Given the description of an element on the screen output the (x, y) to click on. 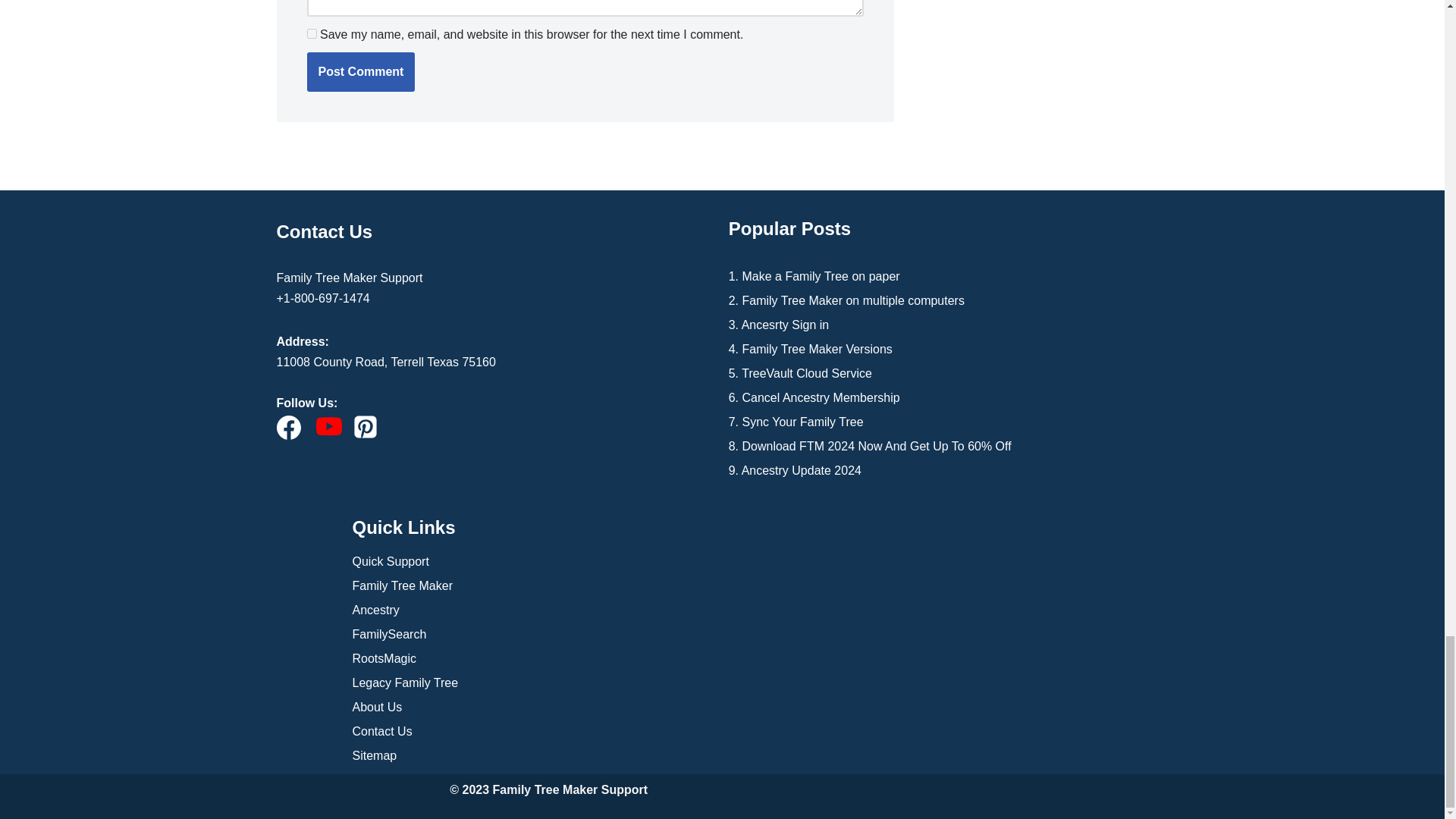
Pinterest (365, 426)
Facebook (287, 427)
Post Comment (359, 71)
yes (310, 33)
